Given the description of an element on the screen output the (x, y) to click on. 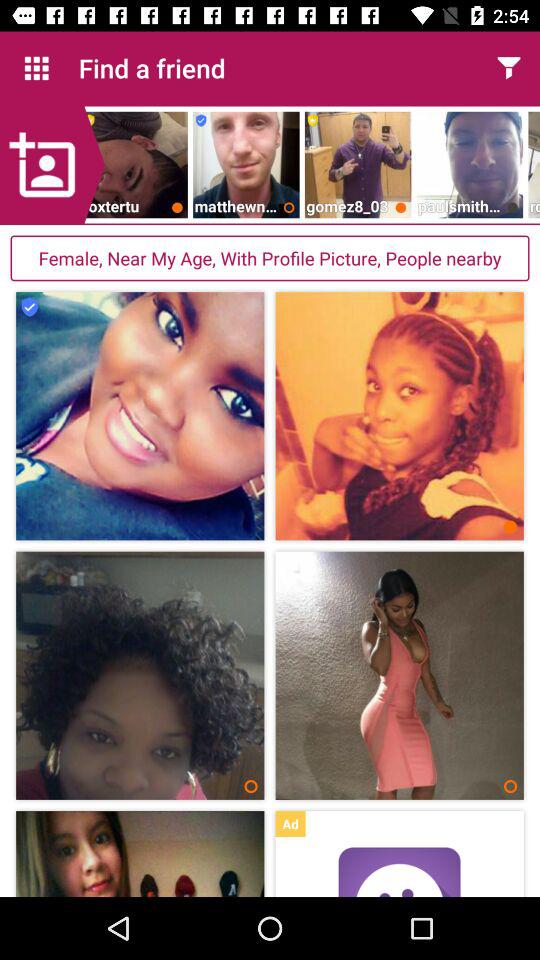
flip until the female near my item (269, 258)
